Given the description of an element on the screen output the (x, y) to click on. 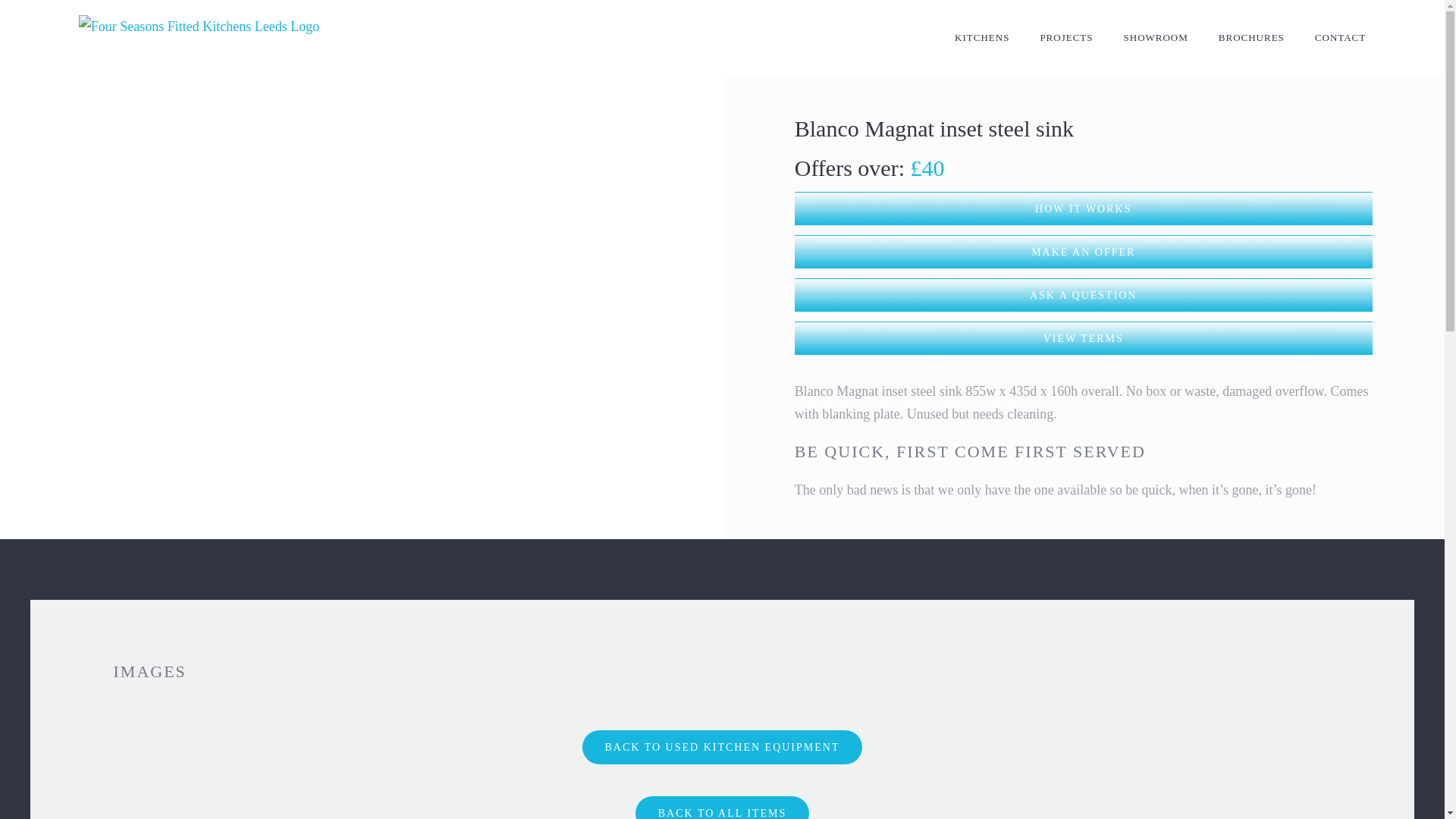
VIEW TERMS (1083, 338)
HOW IT WORKS (1083, 208)
MAKE AN OFFER (1083, 252)
ASK A QUESTION (1083, 295)
